Given the description of an element on the screen output the (x, y) to click on. 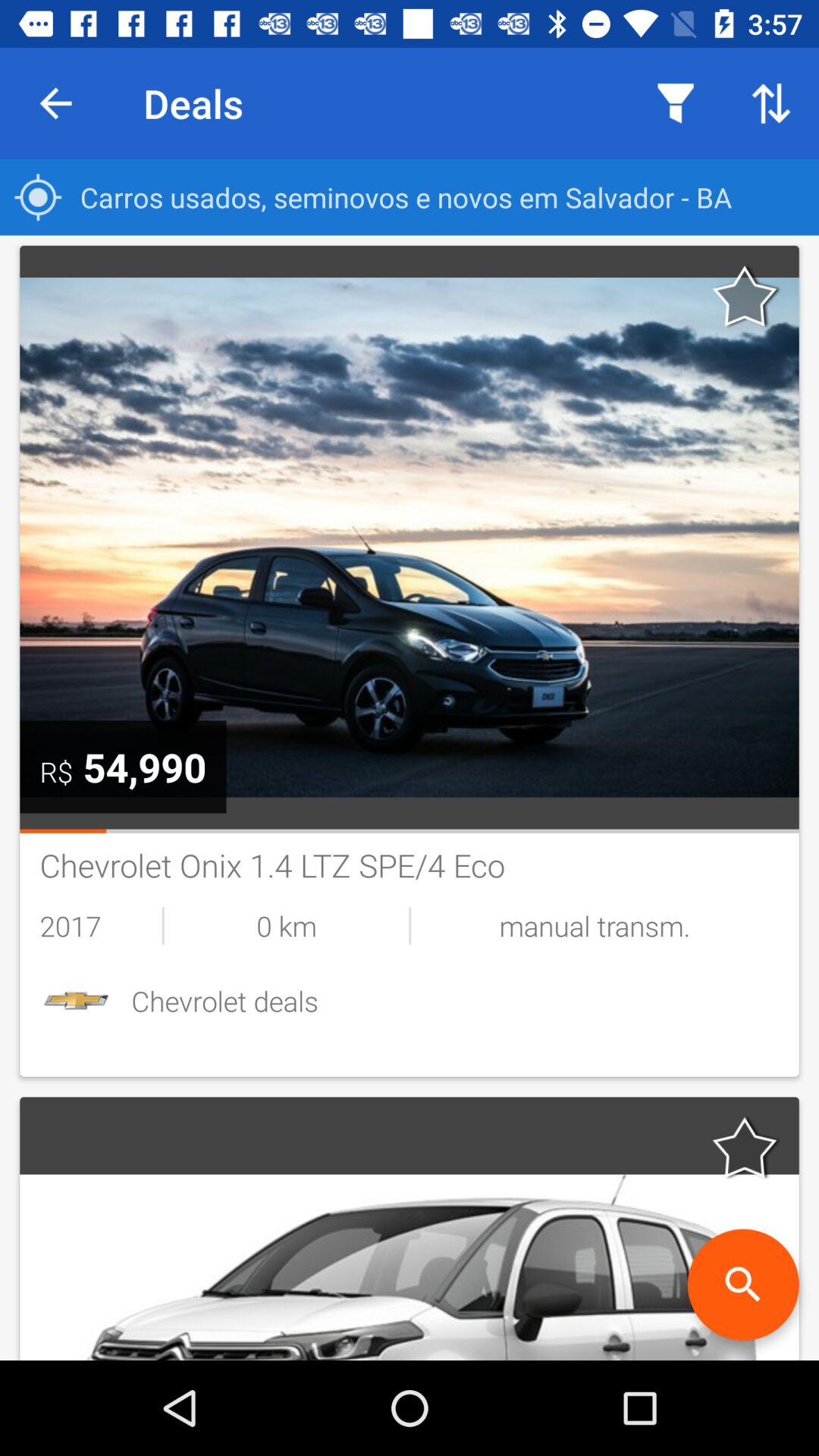
new search (743, 1284)
